Given the description of an element on the screen output the (x, y) to click on. 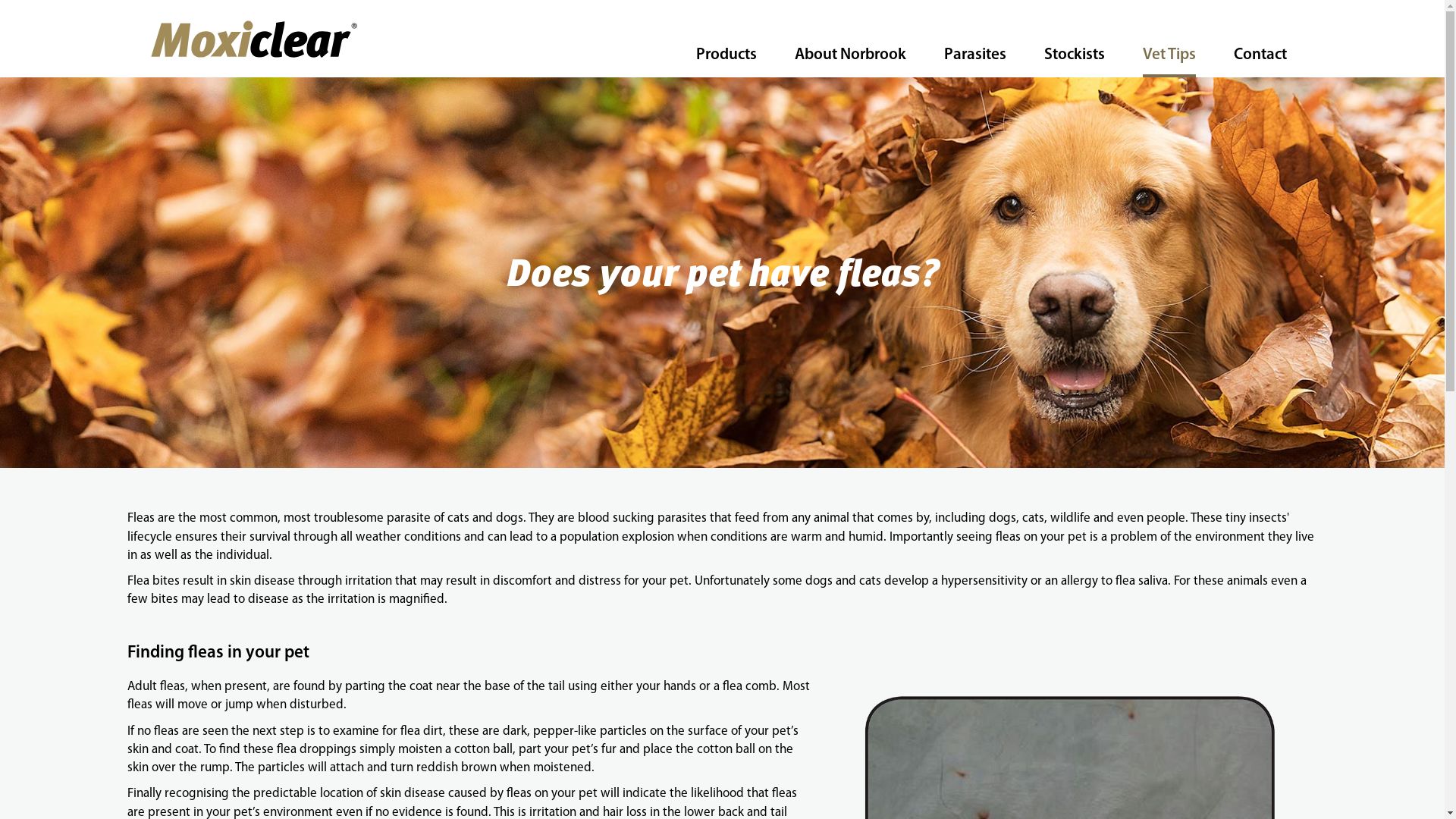
Vet Tips Element type: text (1168, 54)
Parasites Element type: text (974, 54)
Contact Element type: text (1259, 54)
About Norbrook Element type: text (850, 54)
Stockists Element type: text (1073, 54)
Products Element type: text (726, 54)
